Given the description of an element on the screen output the (x, y) to click on. 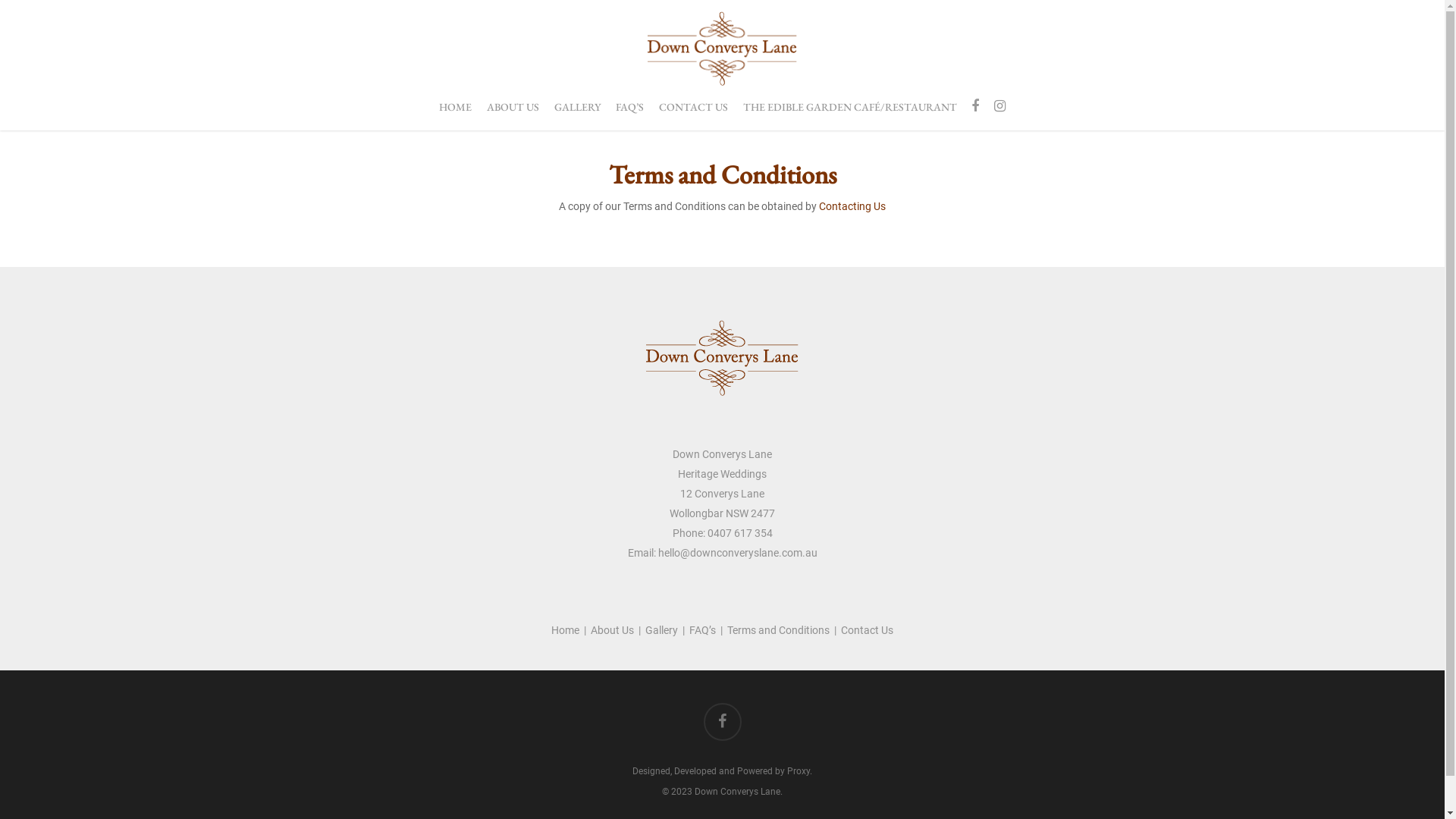
hello@downconveryslane.com.au Element type: text (737, 552)
facebook Element type: text (722, 723)
FACEBOOK Element type: text (974, 106)
Contacting Us Element type: text (852, 206)
Contact Us Element type: text (866, 630)
INSTAGRAM Element type: text (999, 106)
GALLERY Element type: text (577, 114)
HOME Element type: text (455, 114)
CONTACT US Element type: text (693, 114)
Designed, Developed and Powered by Proxy. Element type: text (722, 770)
Terms and Conditions Element type: text (778, 630)
Gallery Element type: text (661, 630)
Home Element type: text (565, 630)
About Us Element type: text (611, 630)
0407 617 354 Element type: text (738, 533)
ABOUT US Element type: text (512, 114)
